Given the description of an element on the screen output the (x, y) to click on. 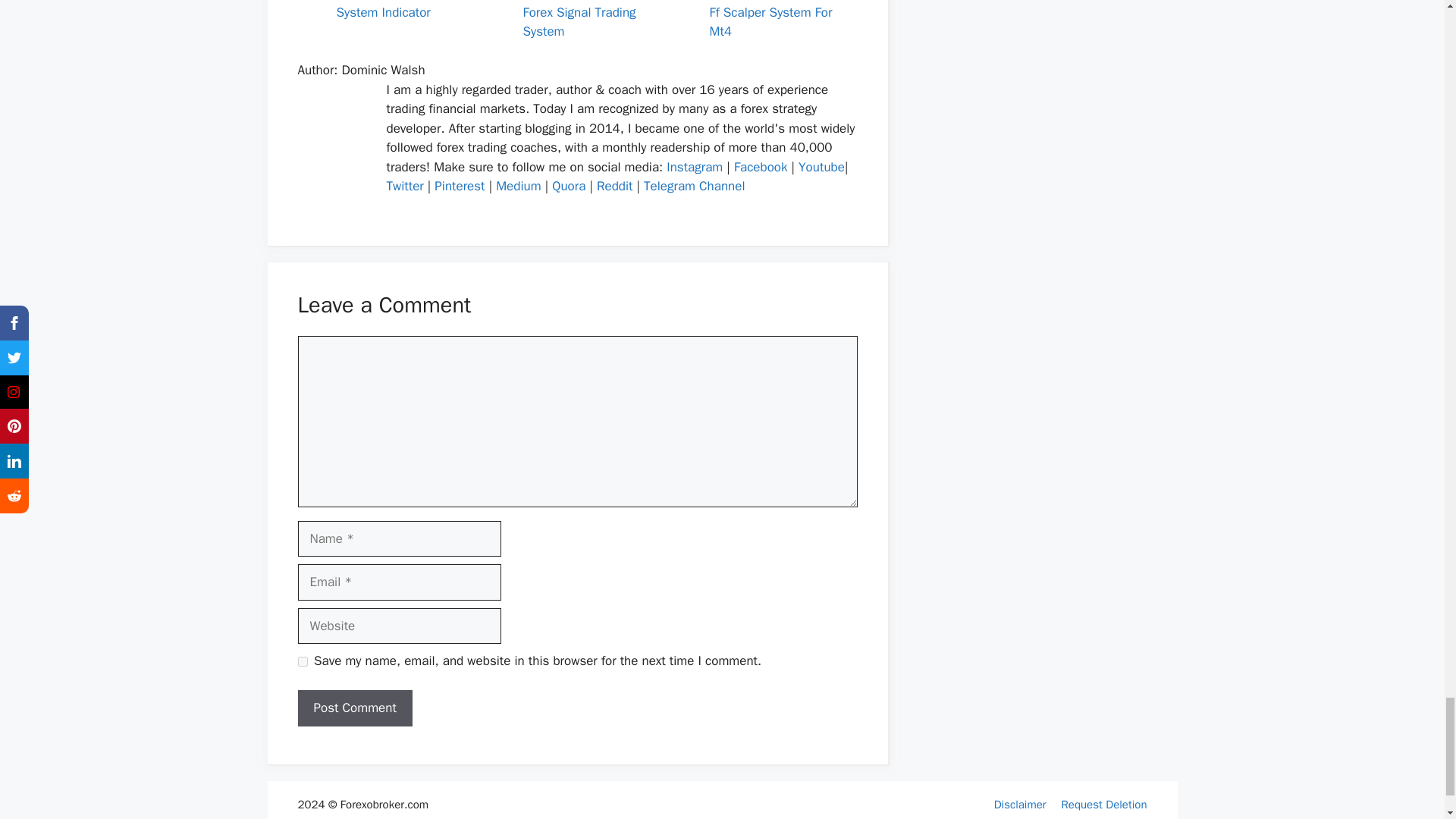
yes (302, 661)
Post Comment (354, 708)
